Given the description of an element on the screen output the (x, y) to click on. 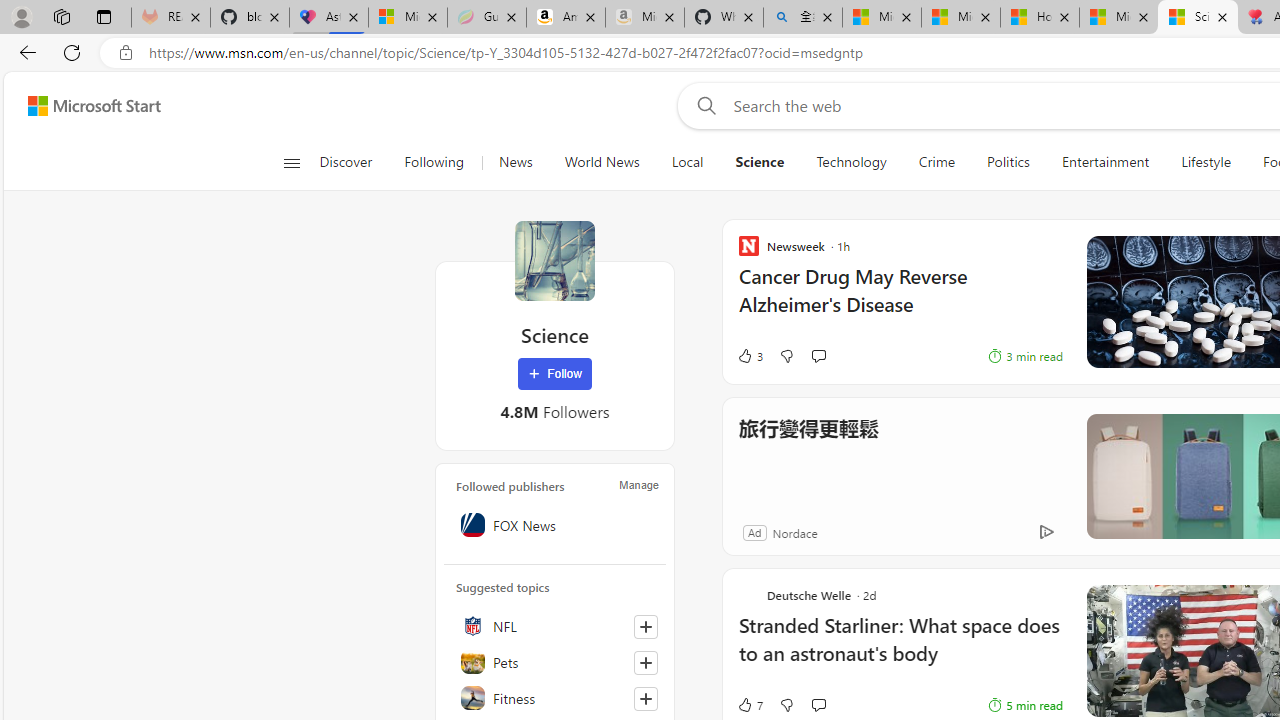
Stranded Starliner: What space does to an astronaut's body (900, 650)
Follow this topic (645, 698)
Cancer Drug May Reverse Alzheimer's Disease (900, 300)
7 Like (749, 704)
World News (601, 162)
Technology (851, 162)
How I Got Rid of Microsoft Edge's Unnecessary Features (1040, 17)
Follow this topic (645, 698)
